Given the description of an element on the screen output the (x, y) to click on. 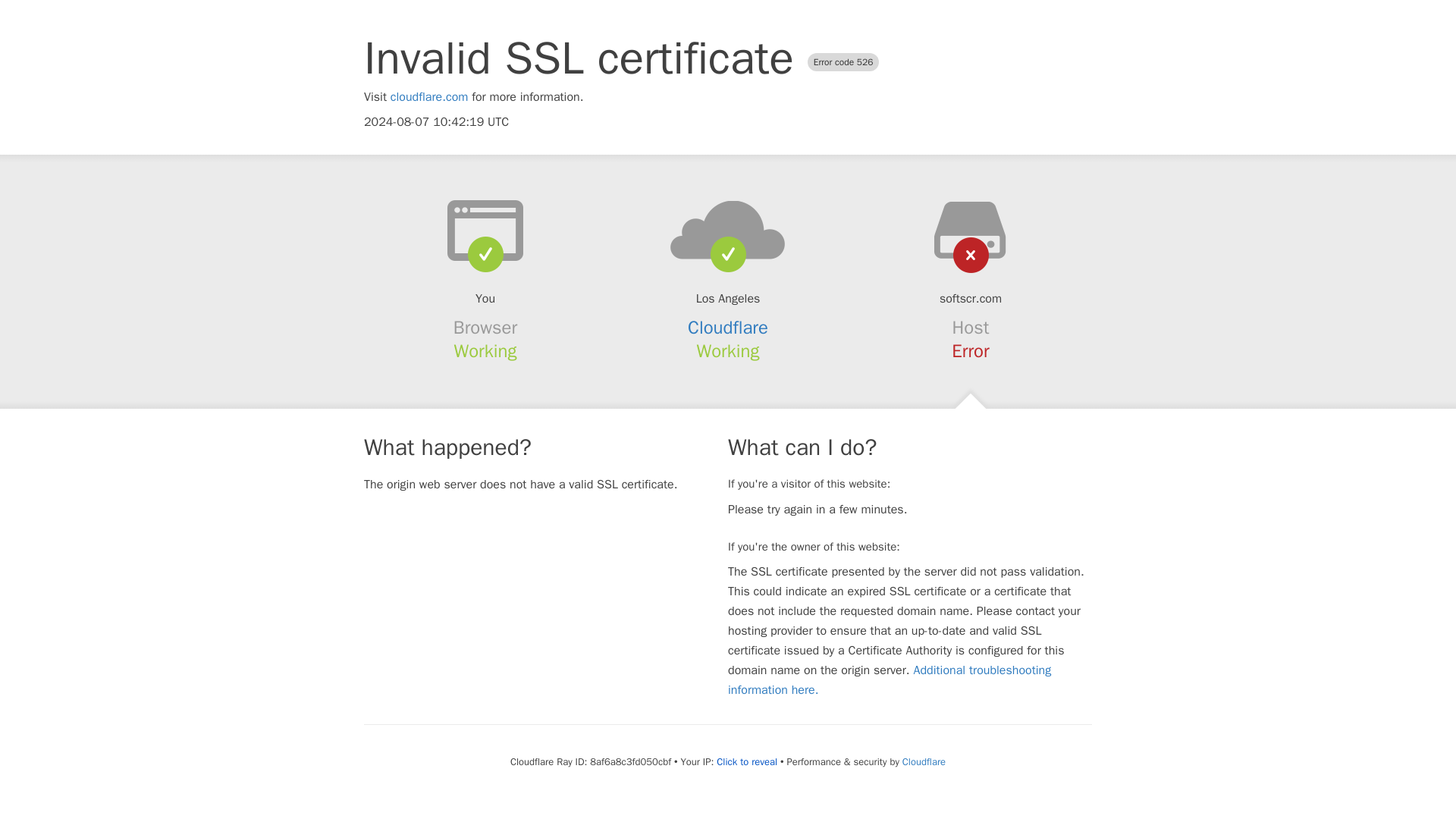
Cloudflare (727, 327)
Click to reveal (746, 762)
Cloudflare (923, 761)
Additional troubleshooting information here. (889, 679)
cloudflare.com (429, 96)
